Given the description of an element on the screen output the (x, y) to click on. 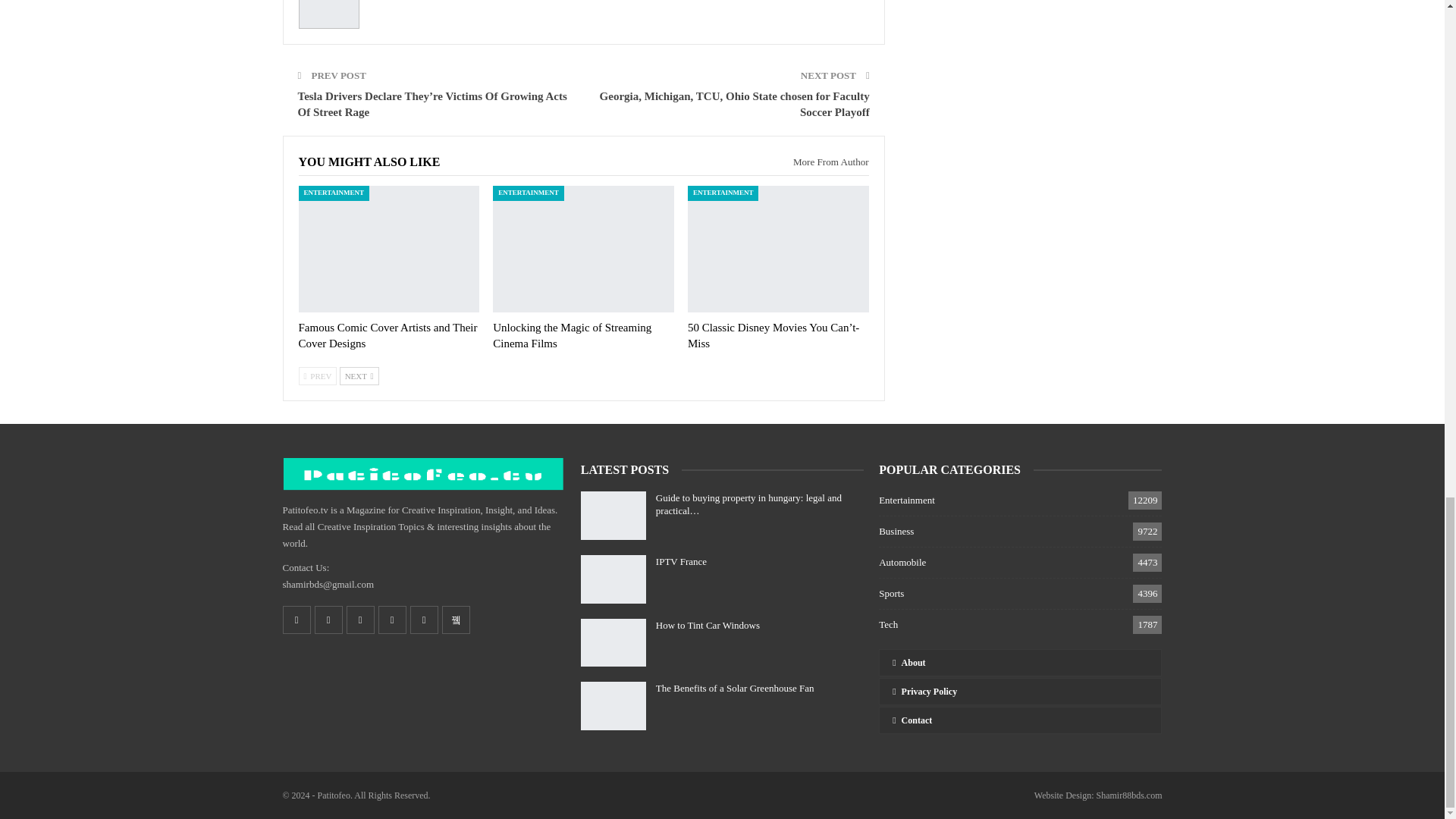
Unlocking the Magic of Streaming Cinema Films (583, 248)
Famous Comic Cover Artists and Their Cover Designs (389, 248)
Previous (317, 375)
Famous Comic Cover Artists and Their Cover Designs (387, 335)
Next (358, 375)
Unlocking the Magic of Streaming Cinema Films (571, 335)
